Given the description of an element on the screen output the (x, y) to click on. 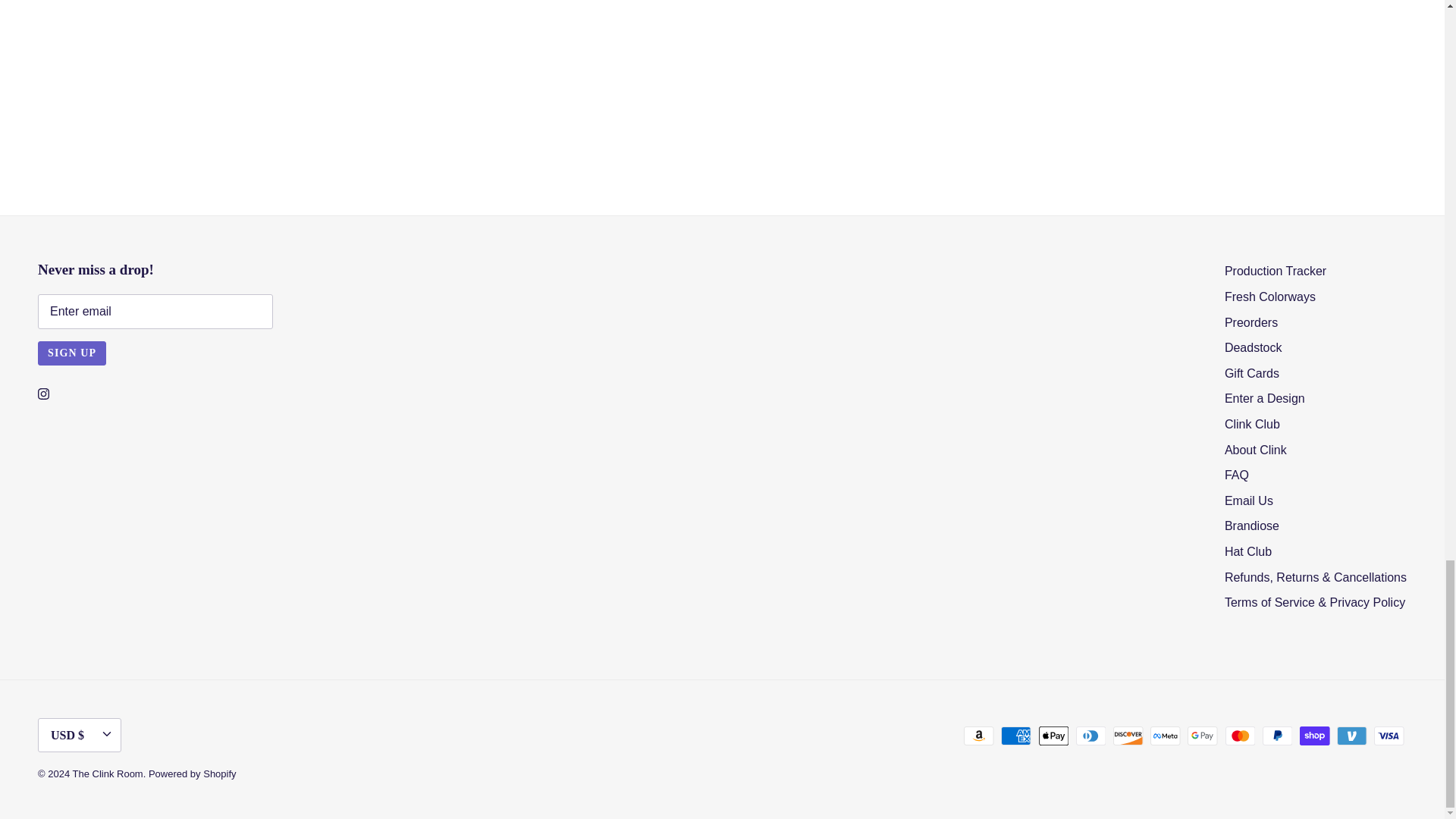
Diners Club (1090, 735)
Apple Pay (1053, 735)
American Express (1015, 735)
Fresh Colorways (1270, 296)
Meta Pay (1165, 735)
SIGN UP (71, 353)
Amazon (978, 735)
PayPal (1277, 735)
Instagram (43, 393)
Mastercard (1240, 735)
